Given the description of an element on the screen output the (x, y) to click on. 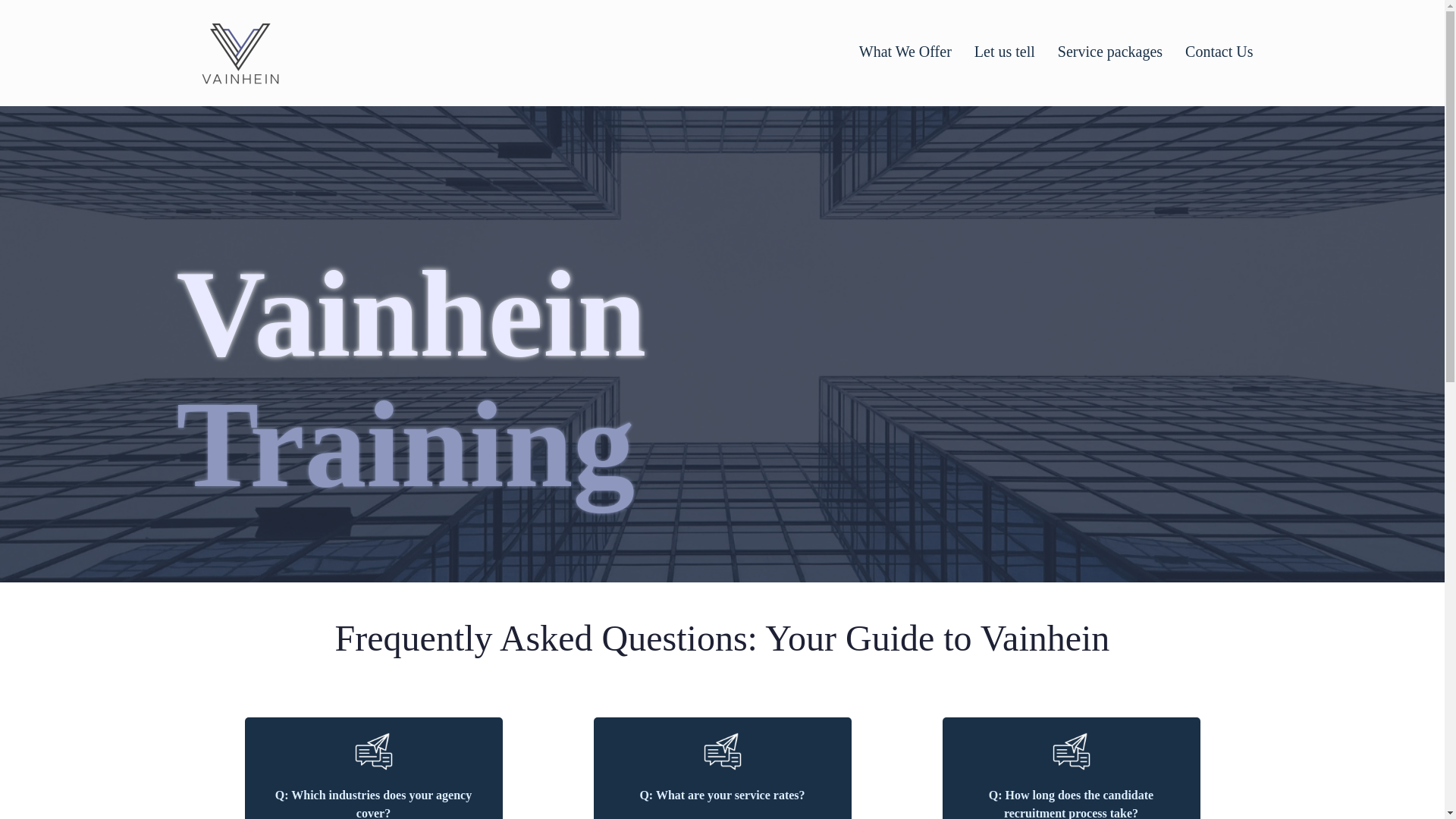
Let us tell (1004, 52)
What We Offer (905, 52)
Contact Us (1218, 52)
Service packages (1109, 52)
